Given the description of an element on the screen output the (x, y) to click on. 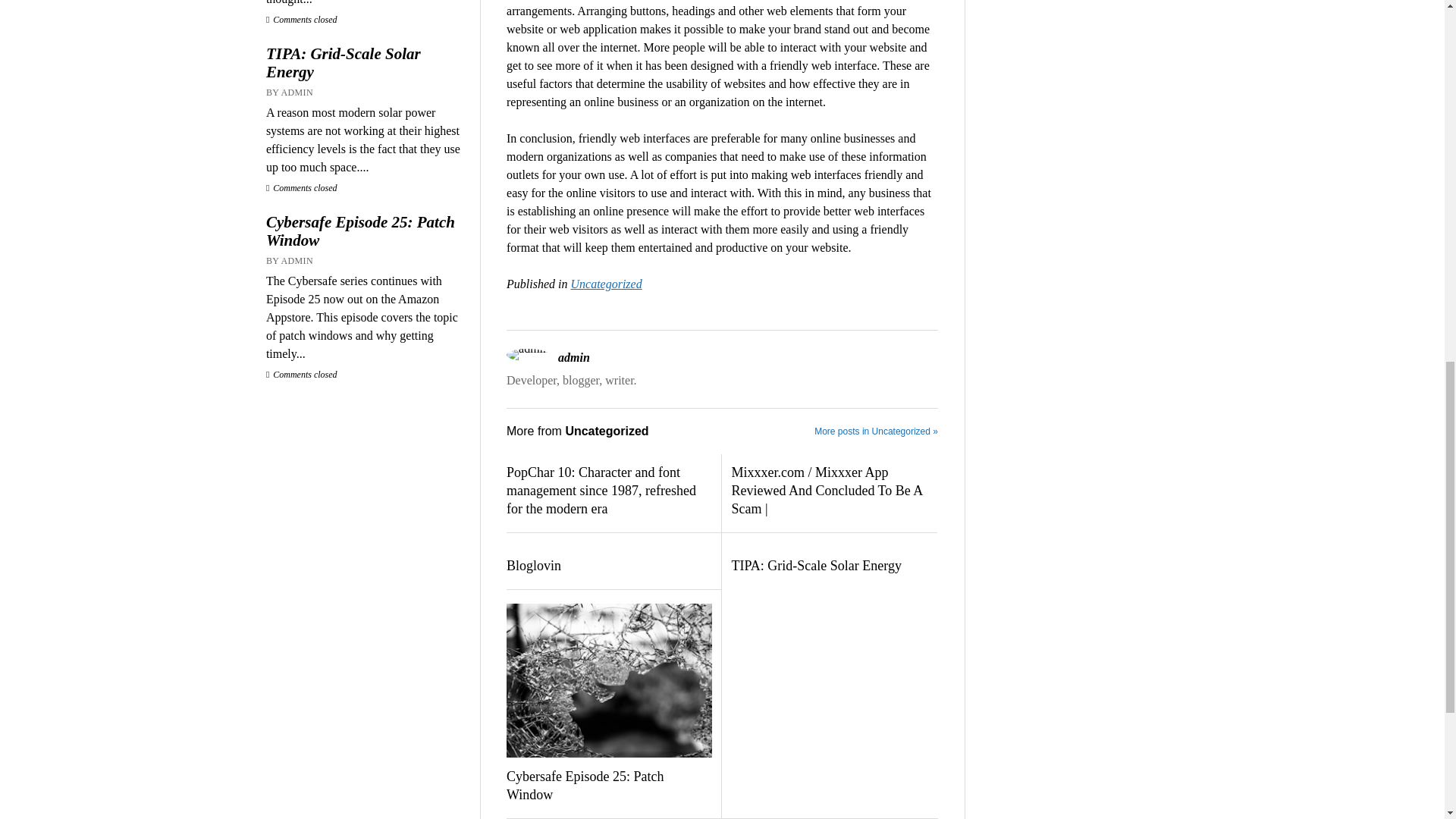
Uncategorized (606, 283)
Comments closed (301, 19)
Cybersafe Episode 25: Patch Window (365, 230)
Bloglovin (608, 566)
Comments closed (301, 187)
TIPA: Grid-Scale Solar Energy (833, 566)
Cybersafe Episode 25: Patch Window (608, 786)
TIPA: Grid-Scale Solar Energy (365, 63)
View all posts in Uncategorized (606, 283)
